Given the description of an element on the screen output the (x, y) to click on. 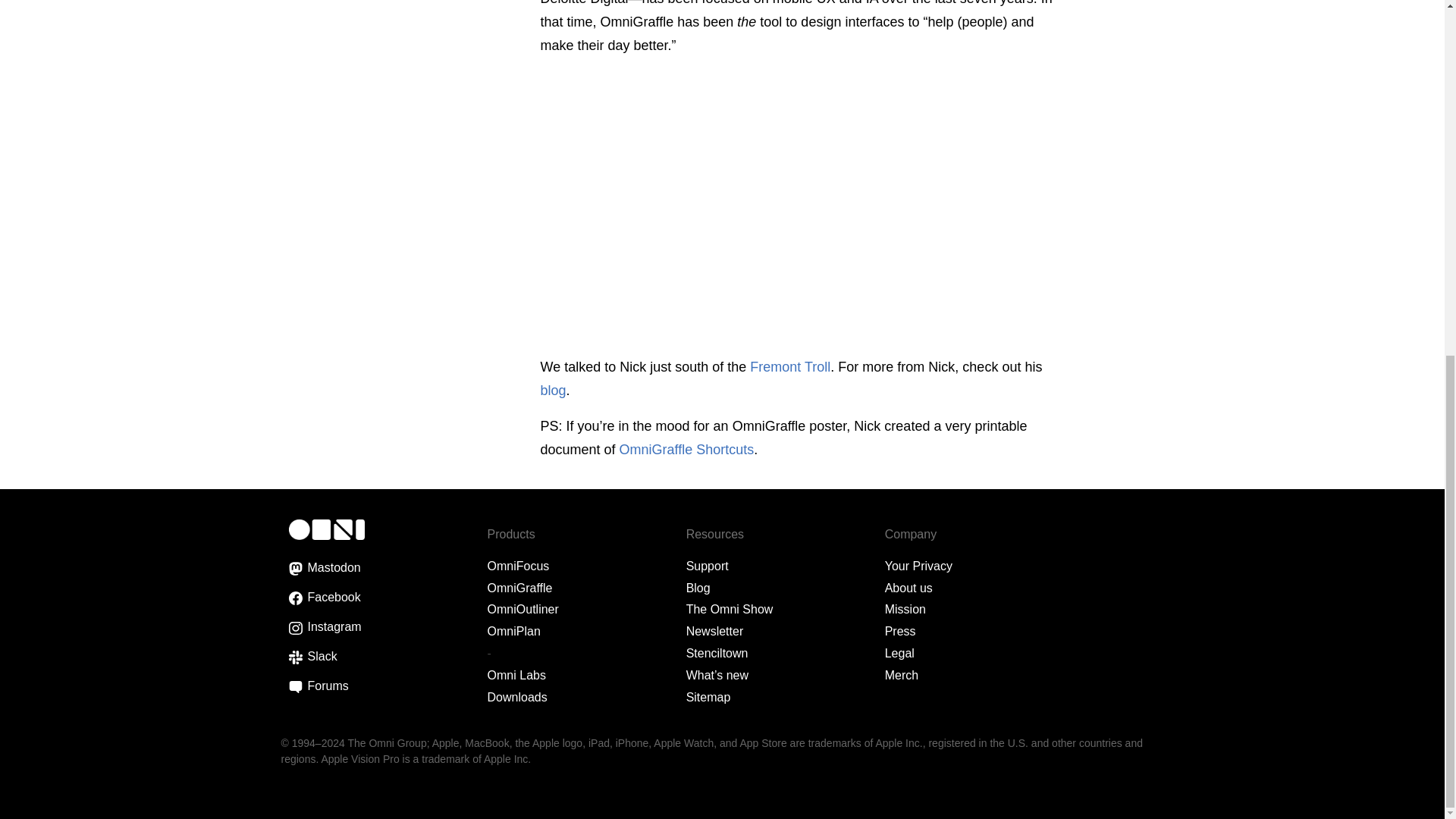
Fremont Troll (789, 366)
Instagram (294, 627)
Mastodon (294, 568)
Forums (294, 686)
blog (553, 390)
Slack (294, 657)
OmniGraffle Shortcuts (335, 595)
Facebook (687, 449)
